Given the description of an element on the screen output the (x, y) to click on. 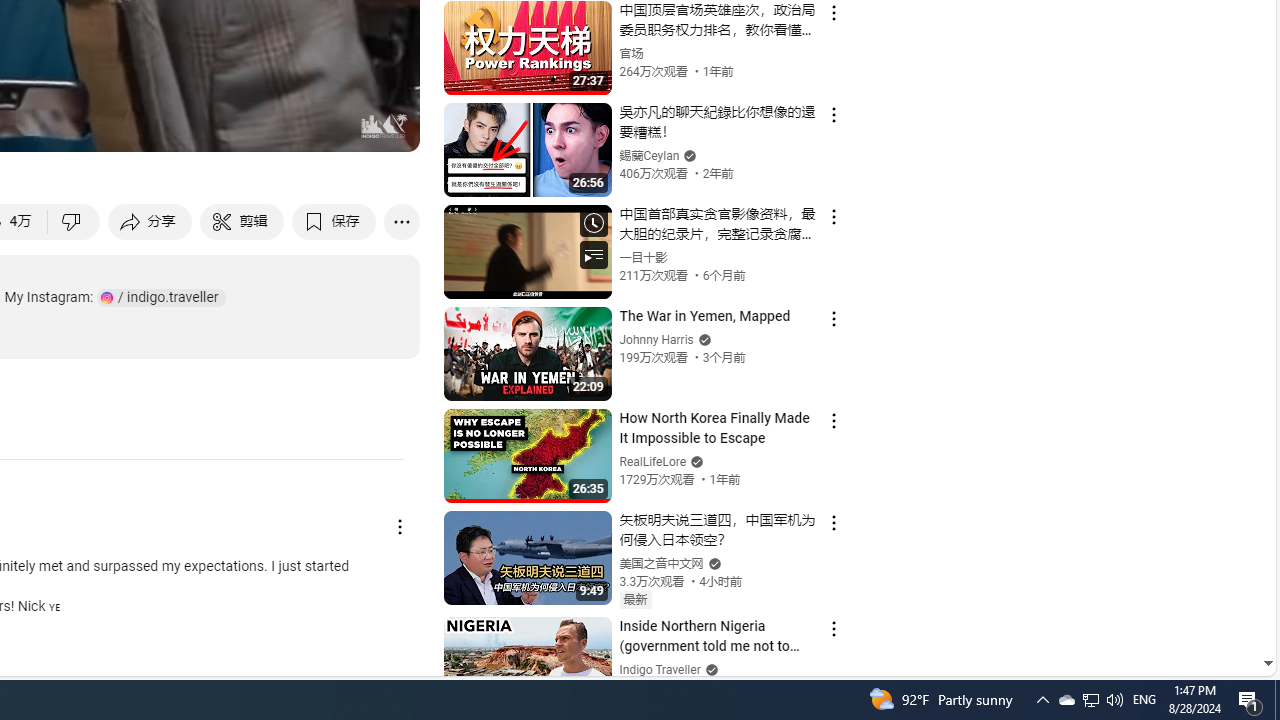
Class: ytp-subtitles-button-icon (190, 127)
